Given the description of an element on the screen output the (x, y) to click on. 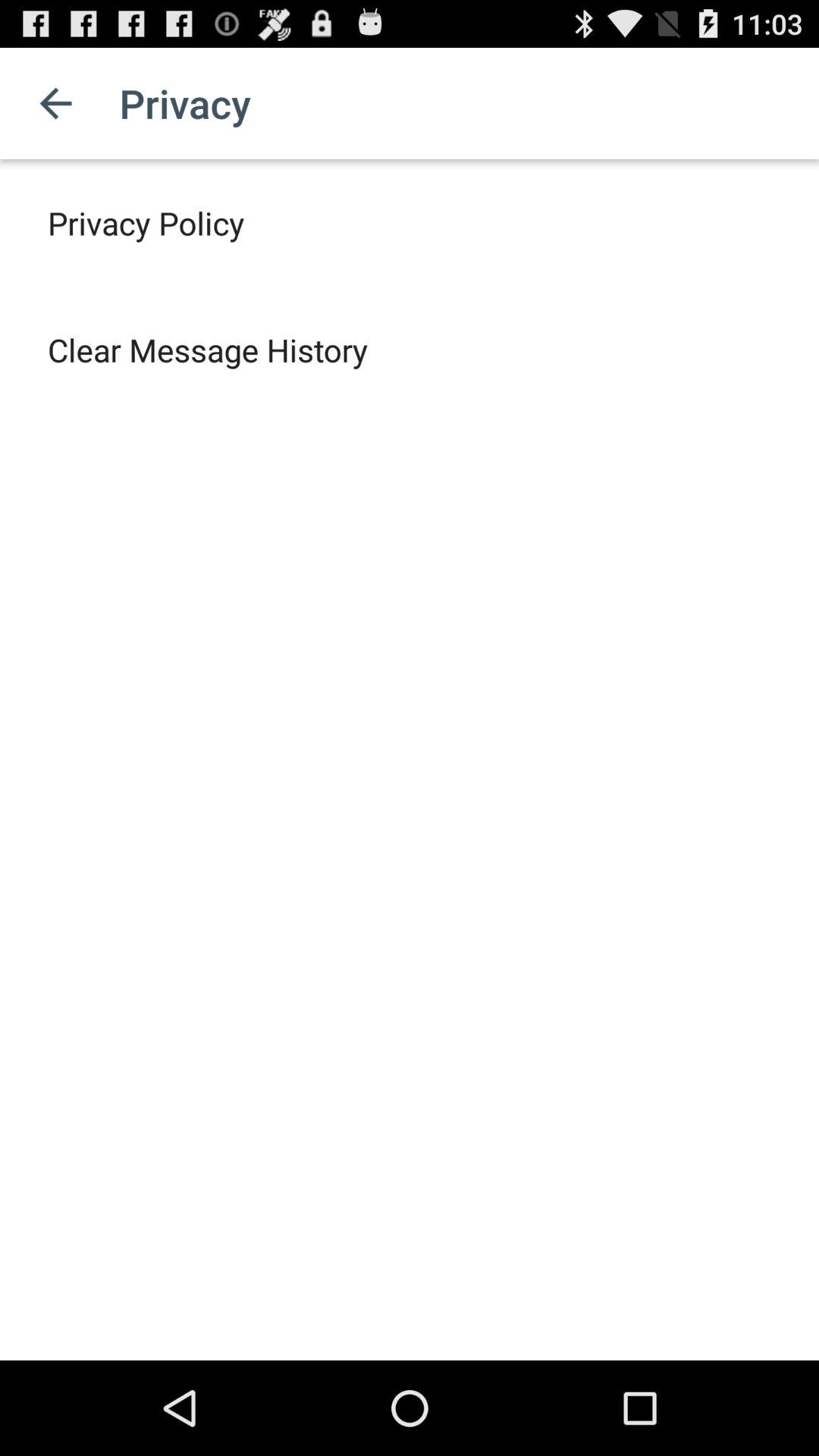
flip until the clear message history item (207, 349)
